Given the description of an element on the screen output the (x, y) to click on. 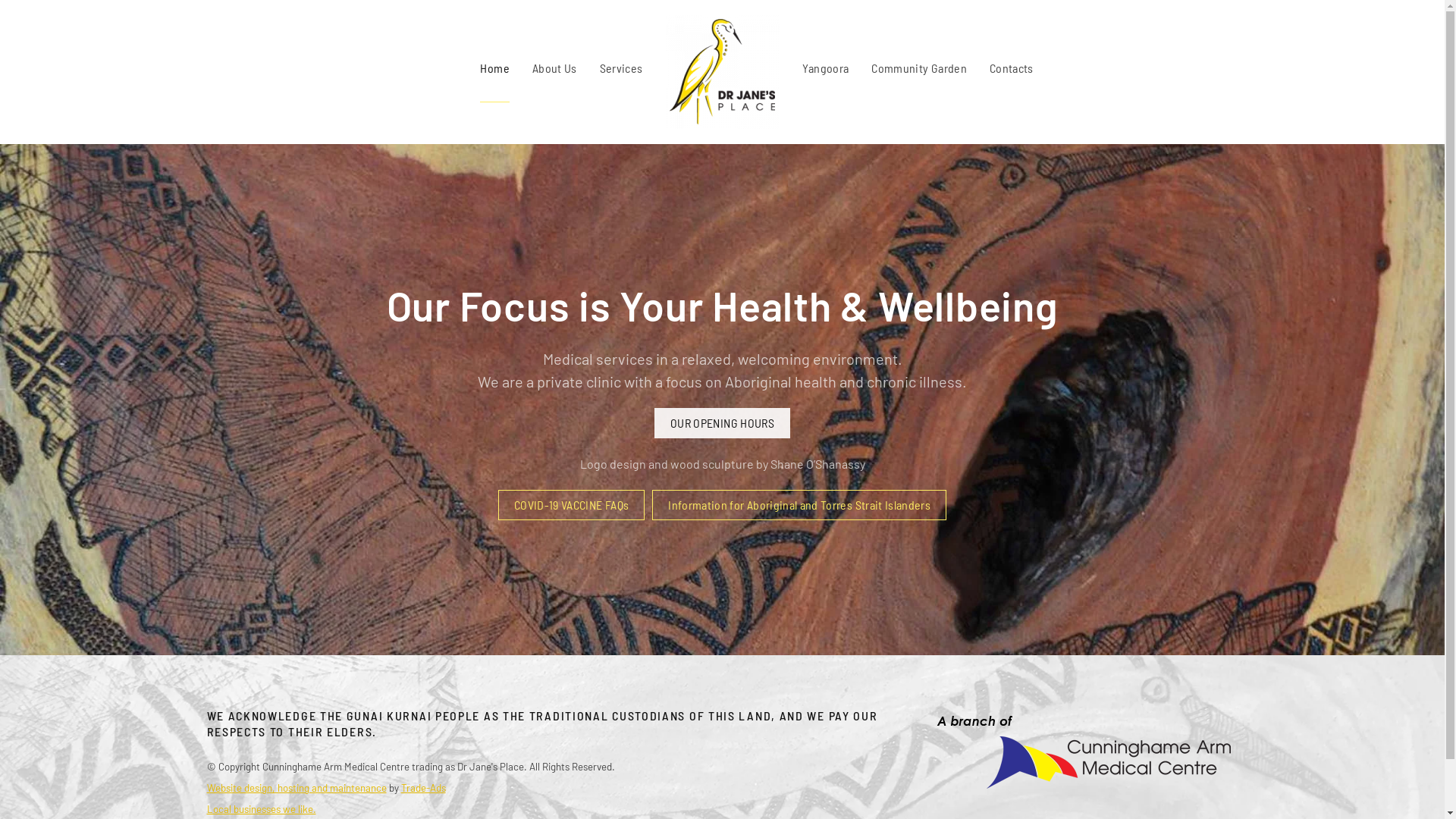
Home Element type: text (494, 68)
Yangoora Element type: text (825, 68)
OUR OPENING HOURS Element type: text (722, 422)
Trade-Ads Element type: text (422, 787)
Community Garden Element type: text (918, 68)
Local businesses we like. Element type: text (260, 809)
COVID-19 VACCINE FAQs Element type: text (571, 504)
Website design, hosting and maintenance Element type: text (295, 787)
Contacts Element type: text (1011, 68)
About Us Element type: text (554, 68)
Information for Aboriginal and Torres Strait Islanders Element type: text (799, 504)
Services Element type: text (621, 68)
